Given the description of an element on the screen output the (x, y) to click on. 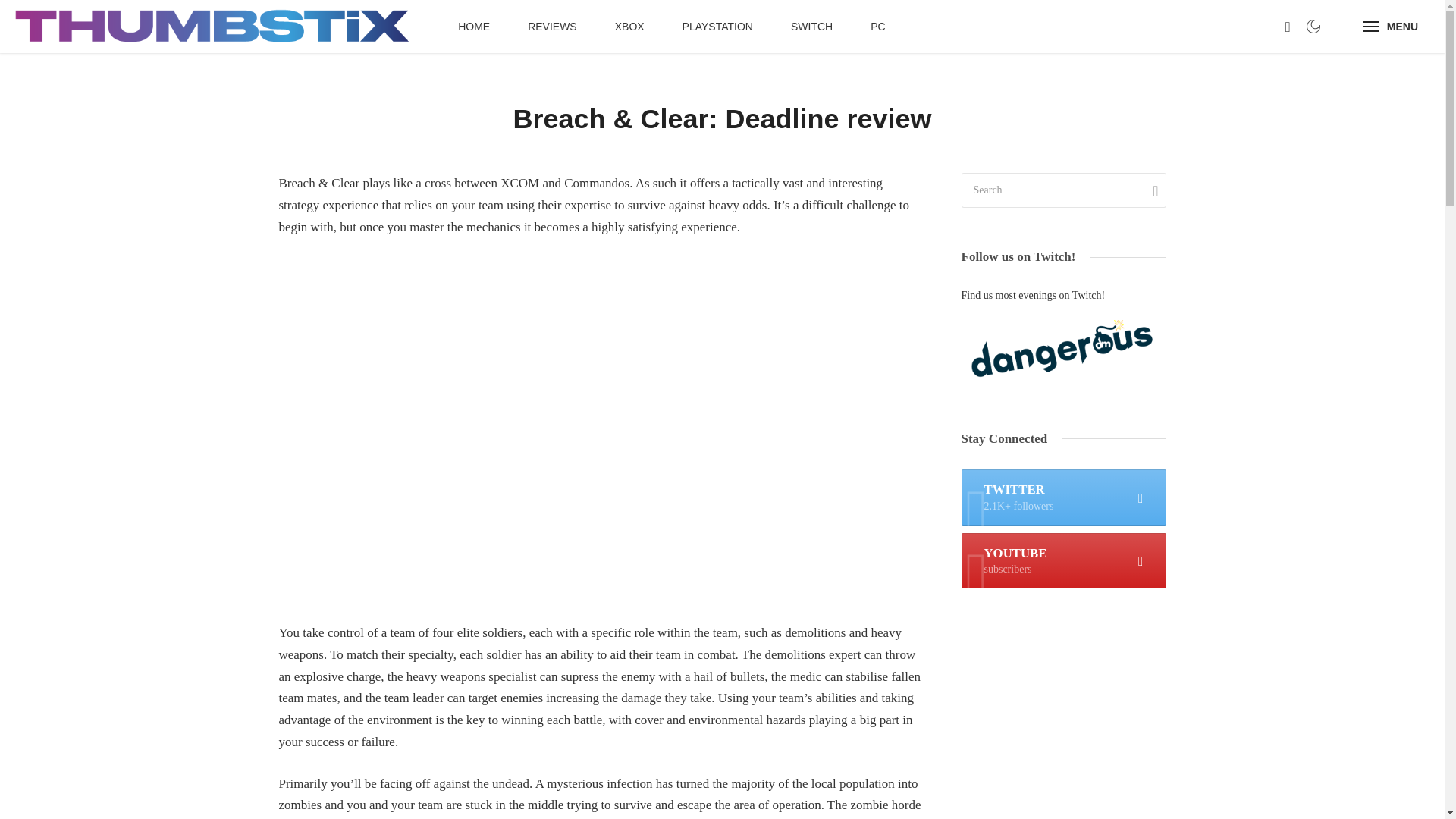
REVIEWS (551, 26)
PC (877, 26)
XBOX (629, 26)
PLAYSTATION (717, 26)
SWITCH (1063, 560)
MENU (811, 26)
HOME (1390, 26)
